Given the description of an element on the screen output the (x, y) to click on. 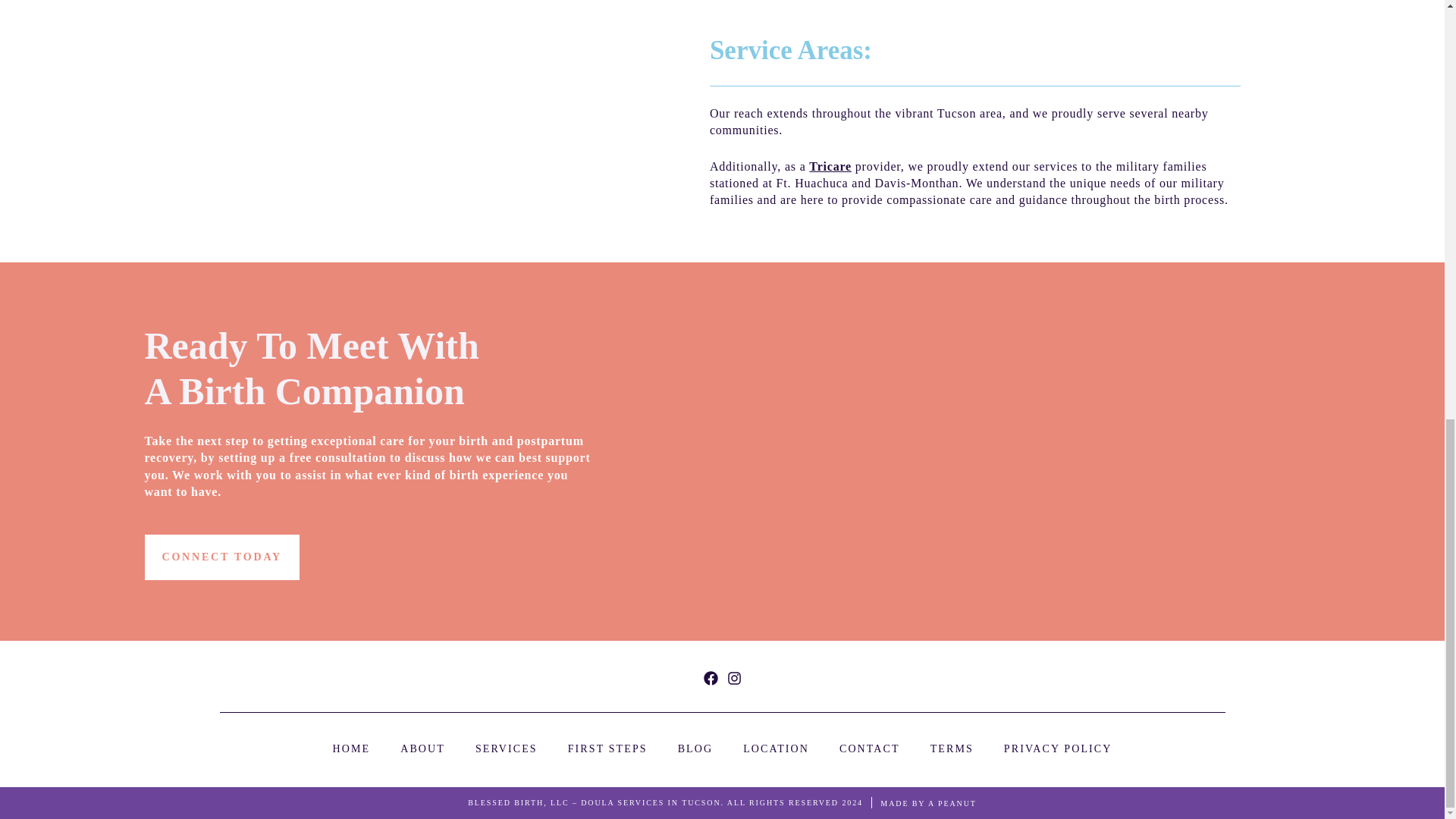
PRIVACY POLICY (1058, 748)
SERVICES (506, 748)
HOME (352, 748)
TERMS (952, 748)
CONNECT TODAY (221, 556)
ABOUT (422, 748)
MADE BY A PEANUT (927, 803)
CONTACT (869, 748)
BLOG (695, 748)
LOCATION (775, 748)
